Given the description of an element on the screen output the (x, y) to click on. 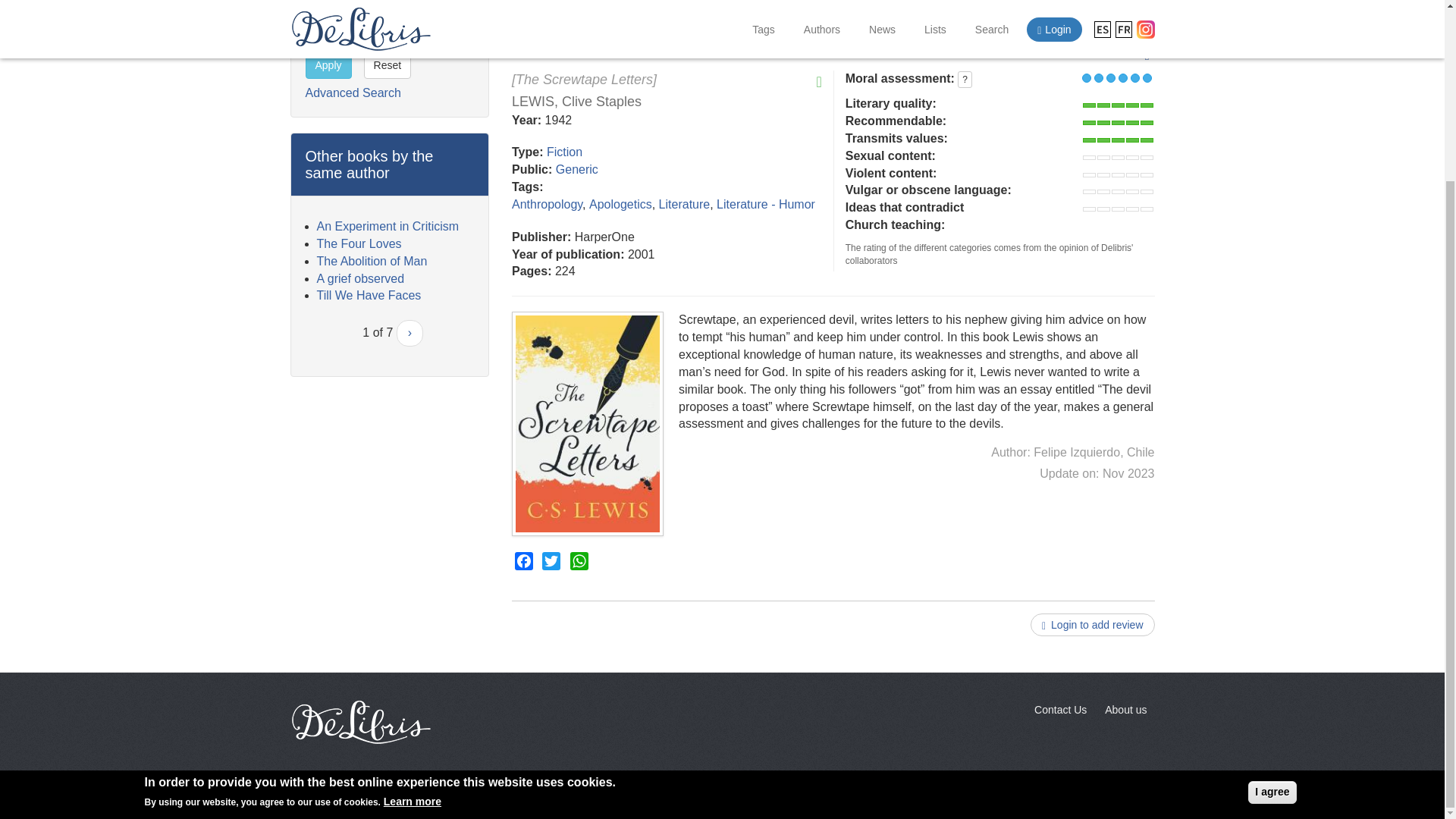
Cookies Policy (991, 794)
An Experiment in Criticism (388, 226)
A grief observed (360, 278)
Fiction (564, 151)
Apologetics (620, 204)
Advanced Search (352, 92)
Literature (684, 204)
Literature - Humor (765, 204)
Generic (577, 169)
WhatsApp (579, 561)
Twitter (550, 561)
Enter the terms you wish to search for. (382, 14)
Facebook (523, 561)
The Four Loves (359, 243)
Reset (388, 65)
